Given the description of an element on the screen output the (x, y) to click on. 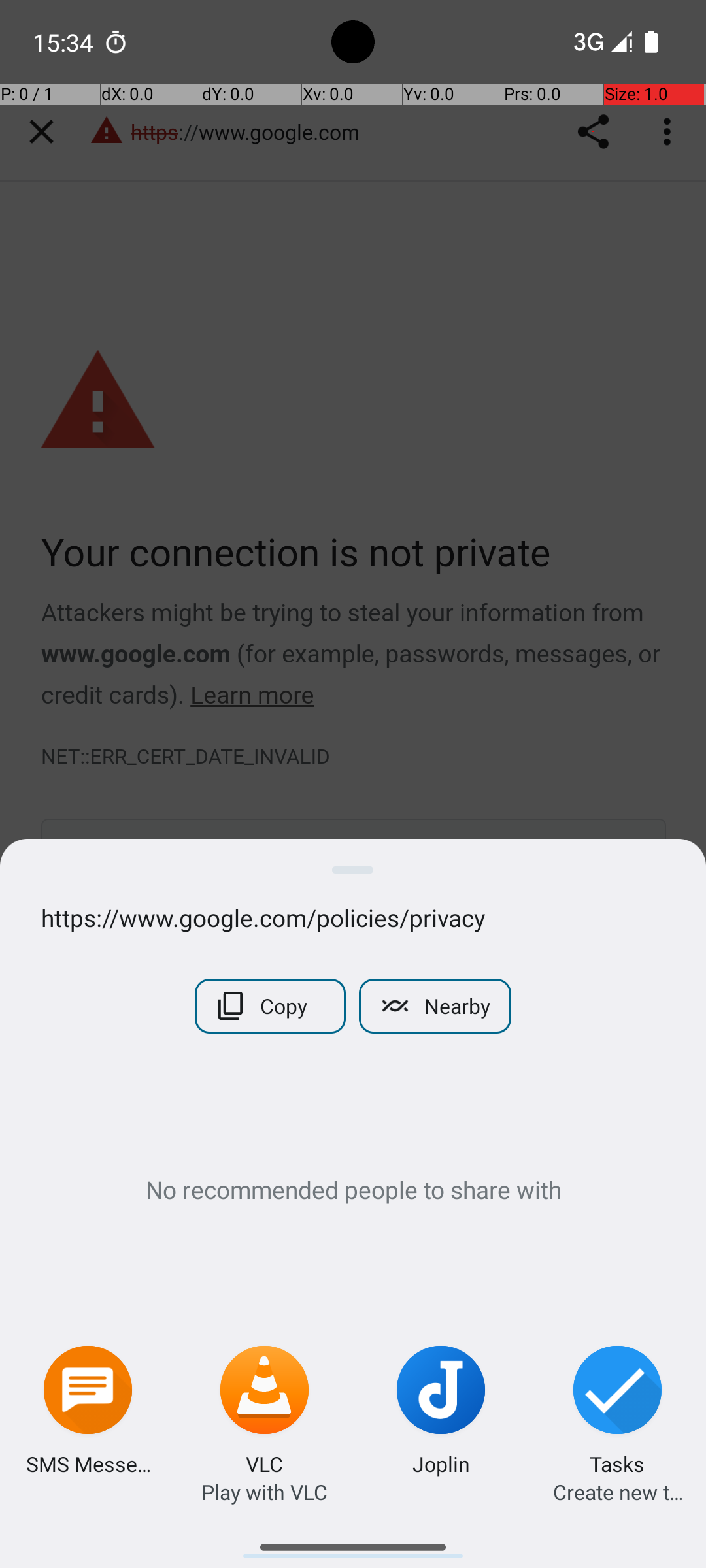
https://www.google.com/policies/privacy Element type: android.widget.TextView (352, 917)
